Given the description of an element on the screen output the (x, y) to click on. 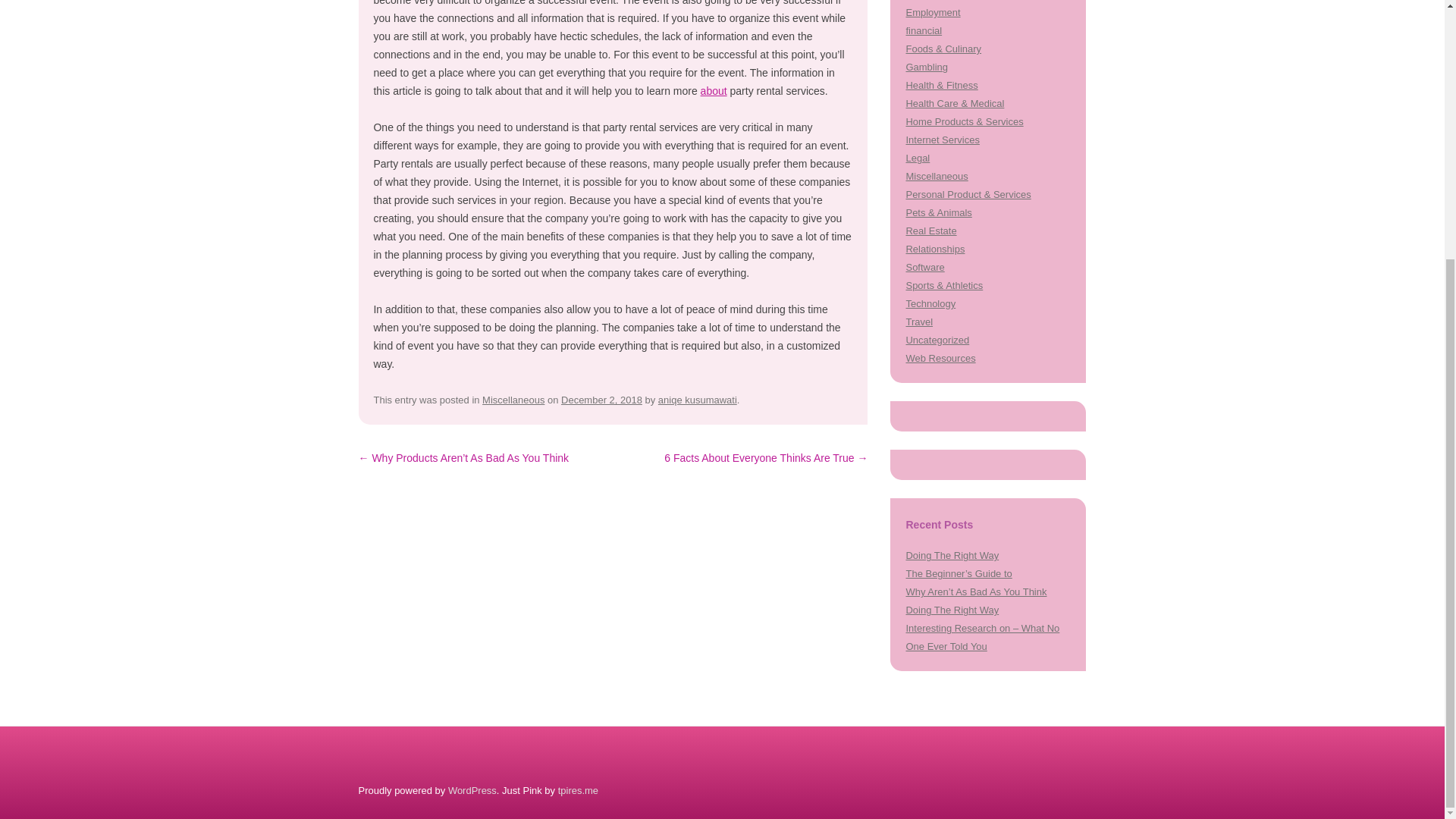
Software (924, 266)
Travel (919, 321)
about (713, 91)
Relationships (934, 248)
Gambling (926, 66)
December 2, 2018 (601, 399)
Legal (917, 157)
View all posts by aniqe kusumawati (697, 399)
Uncategorized (937, 339)
Doing The Right Way (951, 555)
financial (923, 30)
Real Estate (930, 230)
Miscellaneous (512, 399)
Web Resources (940, 357)
Semantic Personal Publishing Platform (472, 790)
